Given the description of an element on the screen output the (x, y) to click on. 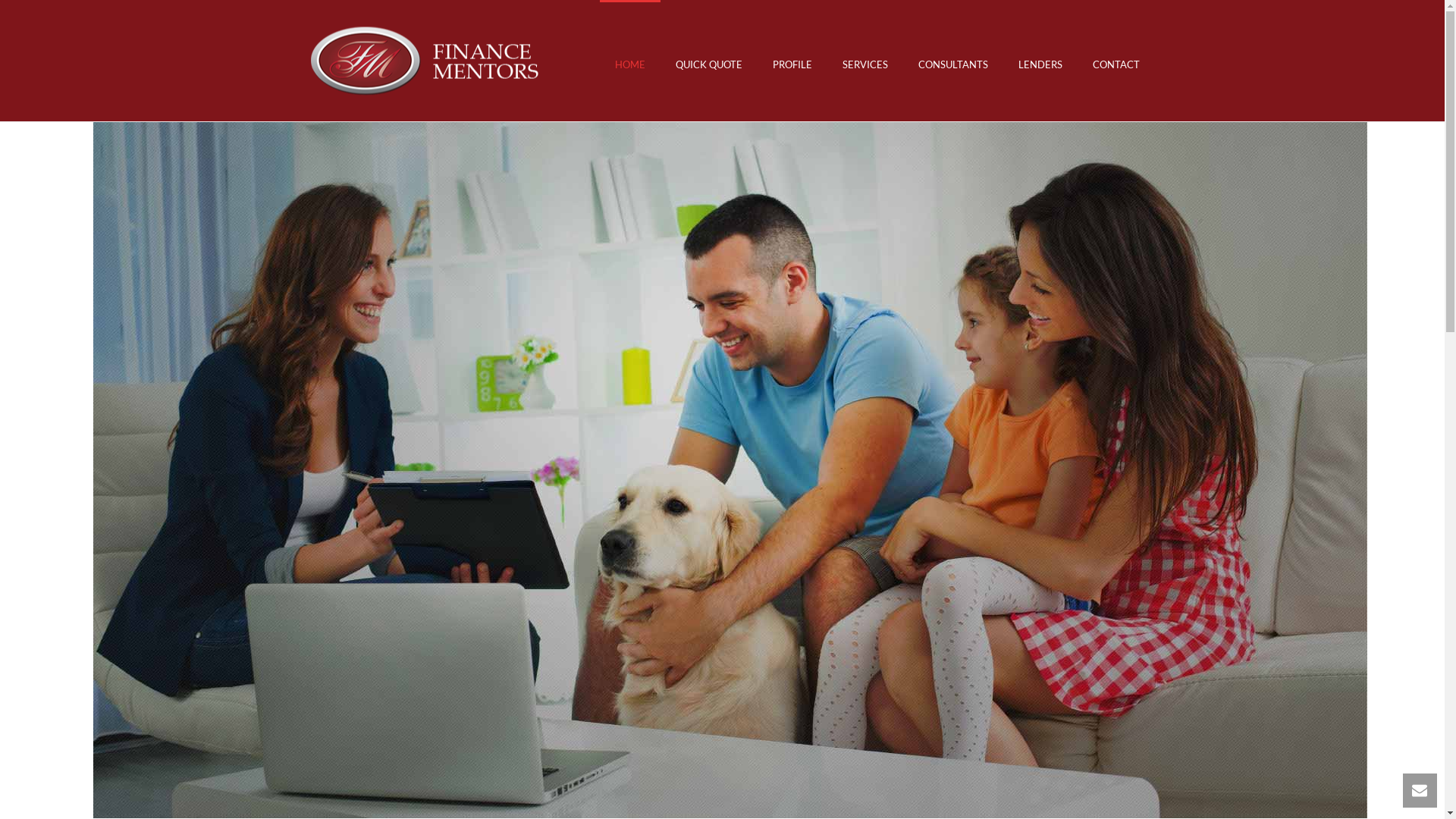
PROFILE Element type: text (791, 60)
SERVICES Element type: text (864, 60)
slide1 Element type: hover (729, 470)
QUICK QUOTE Element type: text (707, 60)
CONTACT Element type: text (1115, 60)
HOME Element type: text (629, 60)
LENDERS Element type: text (1039, 60)
CONSULTANTS Element type: text (952, 60)
